Given the description of an element on the screen output the (x, y) to click on. 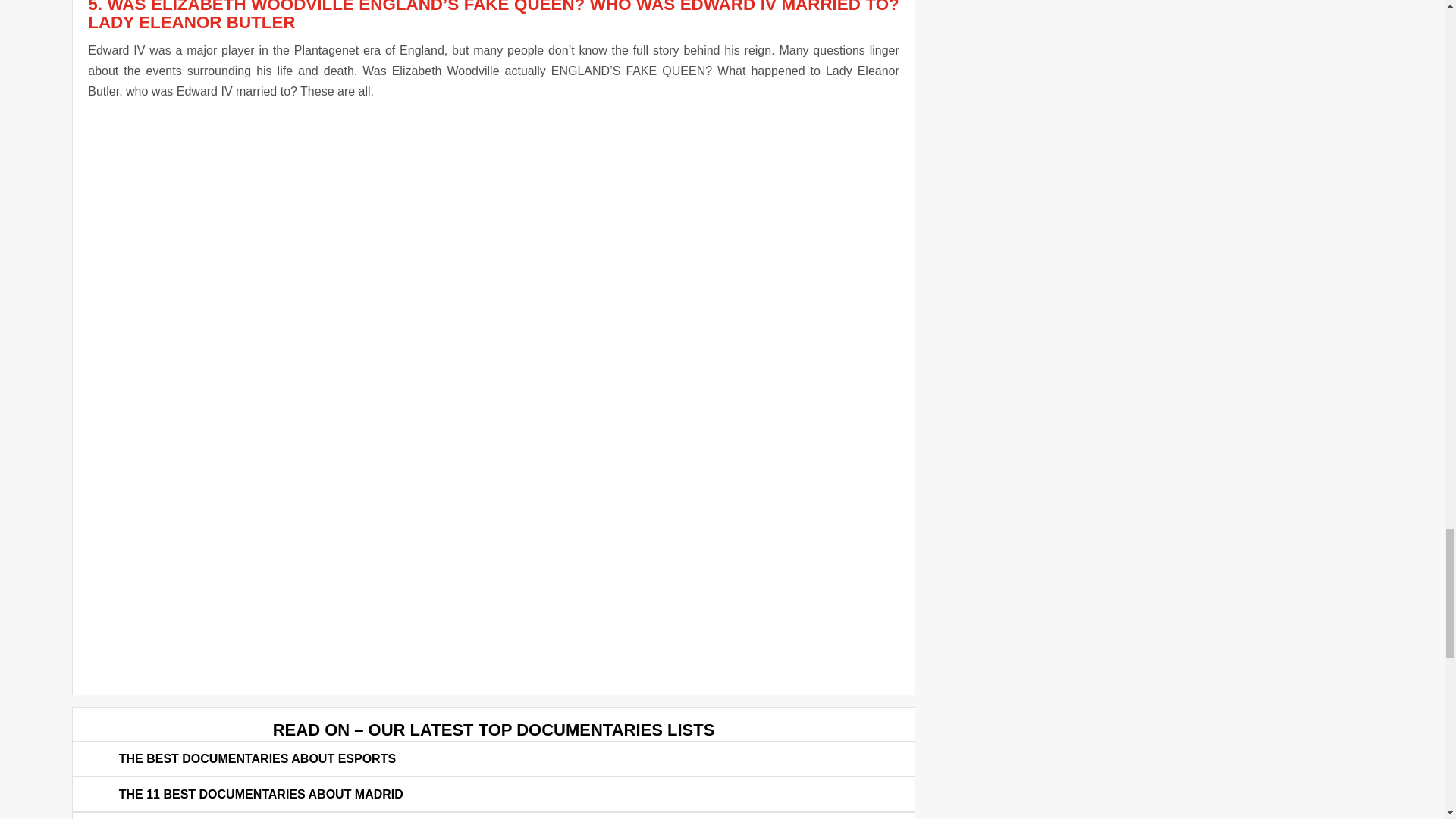
THE 11 BEST DOCUMENTARIES ABOUT MADRID (261, 793)
THE BEST DOCUMENTARIES ABOUT ESPORTS (257, 758)
